Given the description of an element on the screen output the (x, y) to click on. 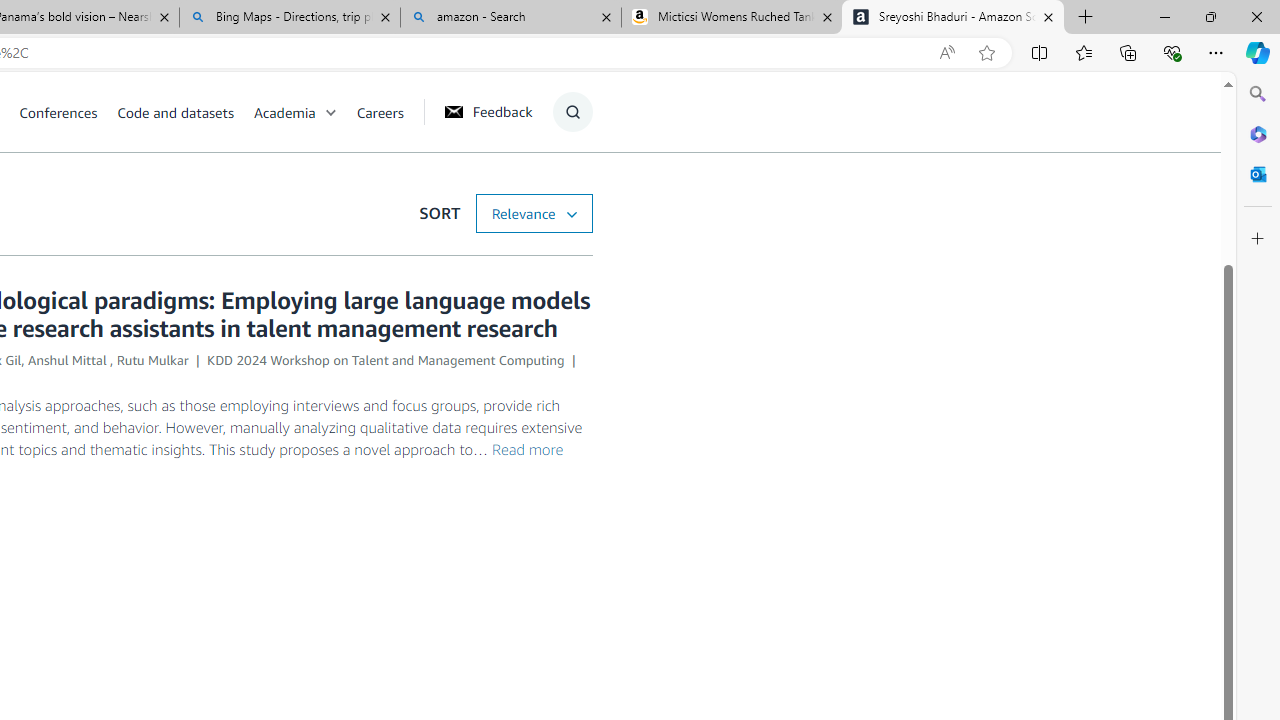
Code and datasets (175, 111)
Careers (379, 111)
Sreyoshi Bhaduri - Amazon Science (953, 17)
Academia (284, 111)
Academia (305, 111)
Show Search Form (571, 111)
